Given the description of an element on the screen output the (x, y) to click on. 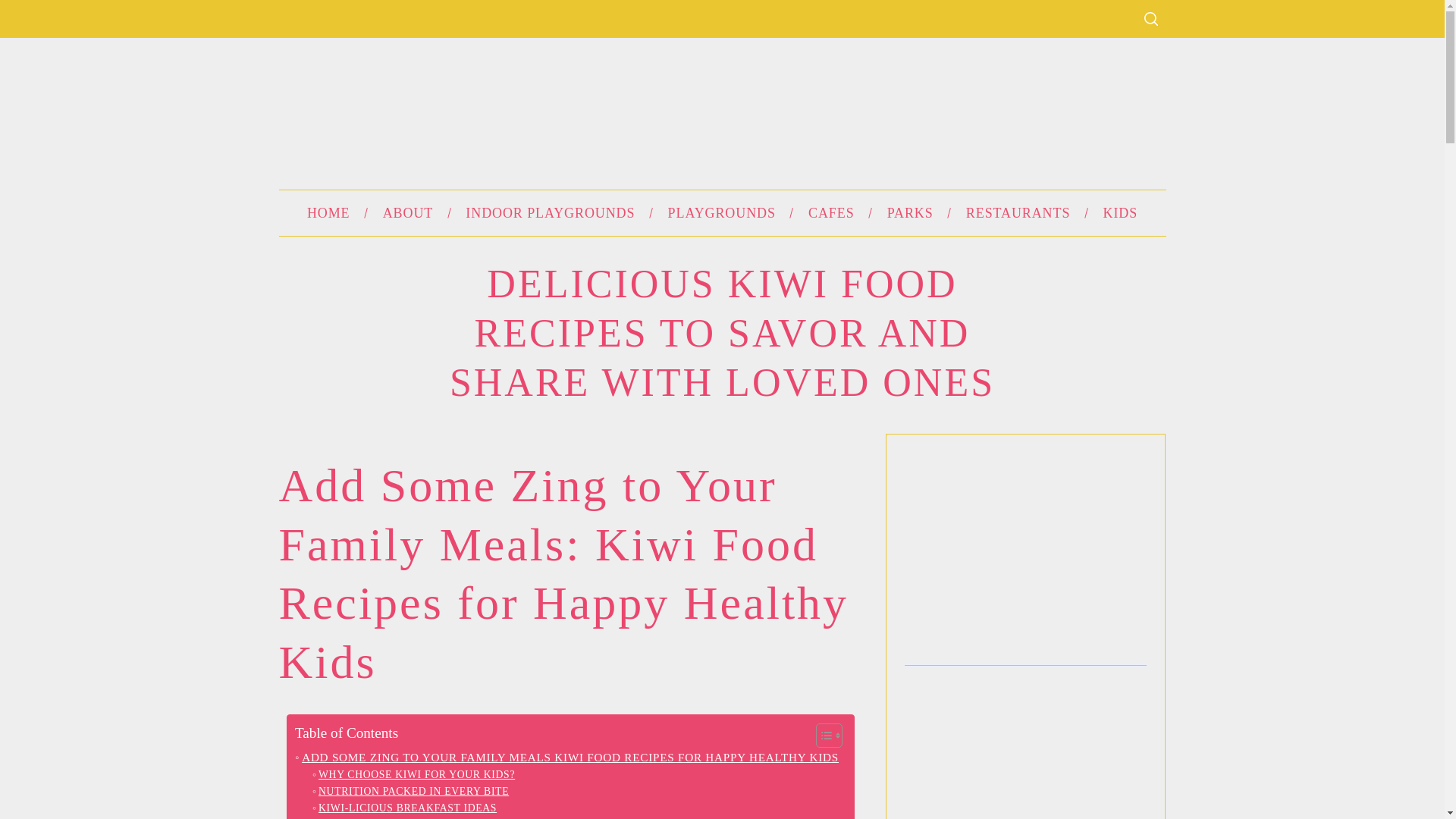
KIDS (1120, 212)
PARKS (909, 212)
KIWI-LICIOUS BREAKFAST IDEAS (404, 808)
Lunch Box Winners Kiwi Edition (414, 817)
Kiwi-licious Breakfast Ideas (404, 808)
RESTAURANTS (1017, 212)
WHY CHOOSE KIWI FOR YOUR KIDS? (414, 774)
Why Choose Kiwi for Your Kids? (414, 774)
NUTRITION PACKED IN EVERY BITE (410, 791)
Nutrition Packed in Every Bite (410, 791)
LUNCH BOX WINNERS KIWI EDITION (414, 817)
